Given the description of an element on the screen output the (x, y) to click on. 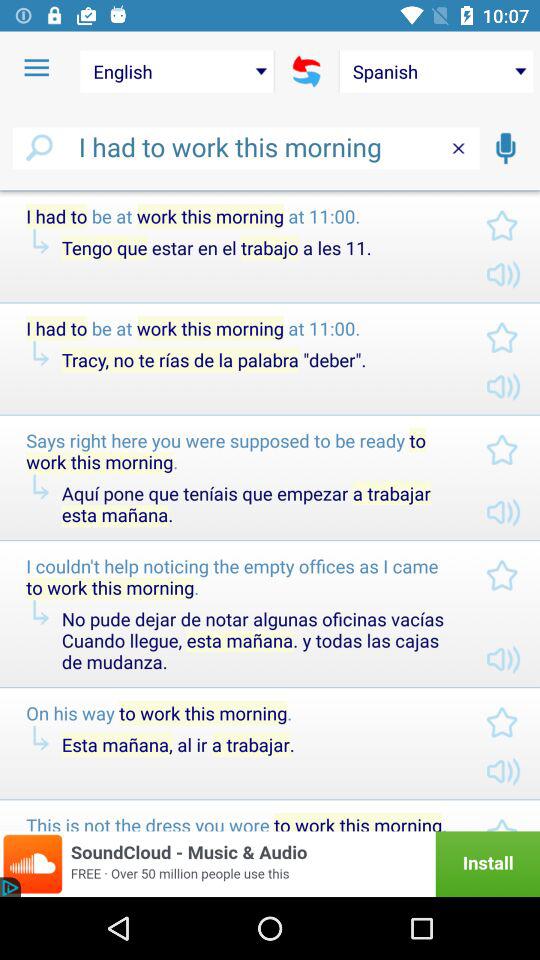
launch the item below i couldn t icon (257, 640)
